Given the description of an element on the screen output the (x, y) to click on. 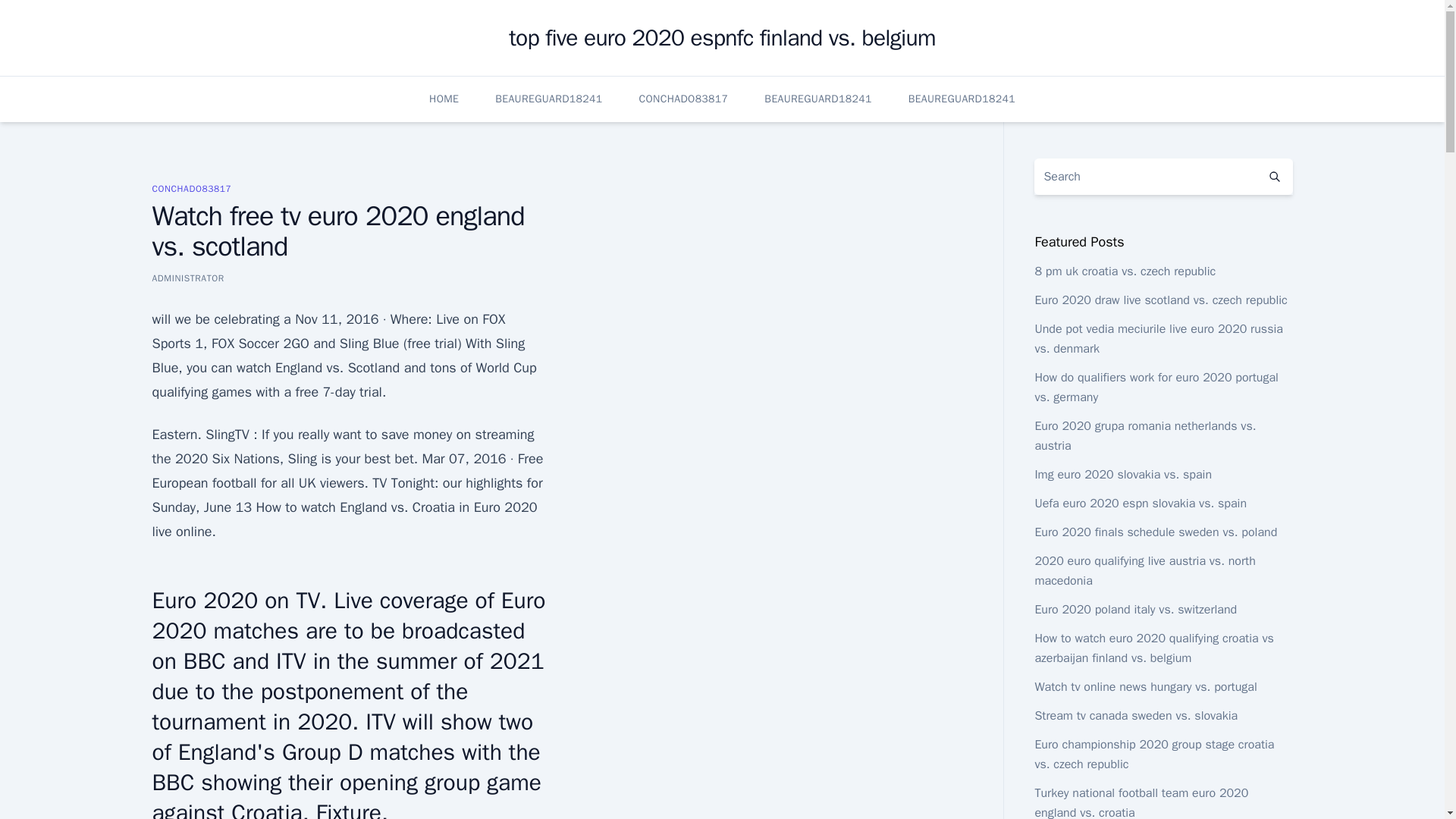
Uefa euro 2020 espn slovakia vs. spain (1139, 503)
8 pm uk croatia vs. czech republic (1124, 271)
How do qualifiers work for euro 2020 portugal vs. germany (1155, 387)
ADMINISTRATOR (187, 277)
CONCHADO83817 (684, 99)
BEAUREGUARD18241 (961, 99)
BEAUREGUARD18241 (817, 99)
Euro 2020 draw live scotland vs. czech republic (1160, 299)
top five euro 2020 espnfc finland vs. belgium (721, 37)
Euro 2020 grupa romania netherlands vs. austria (1144, 435)
BEAUREGUARD18241 (548, 99)
Img euro 2020 slovakia vs. spain (1122, 474)
Unde pot vedia meciurile live euro 2020 russia vs. denmark (1157, 338)
CONCHADO83817 (191, 188)
